Given the description of an element on the screen output the (x, y) to click on. 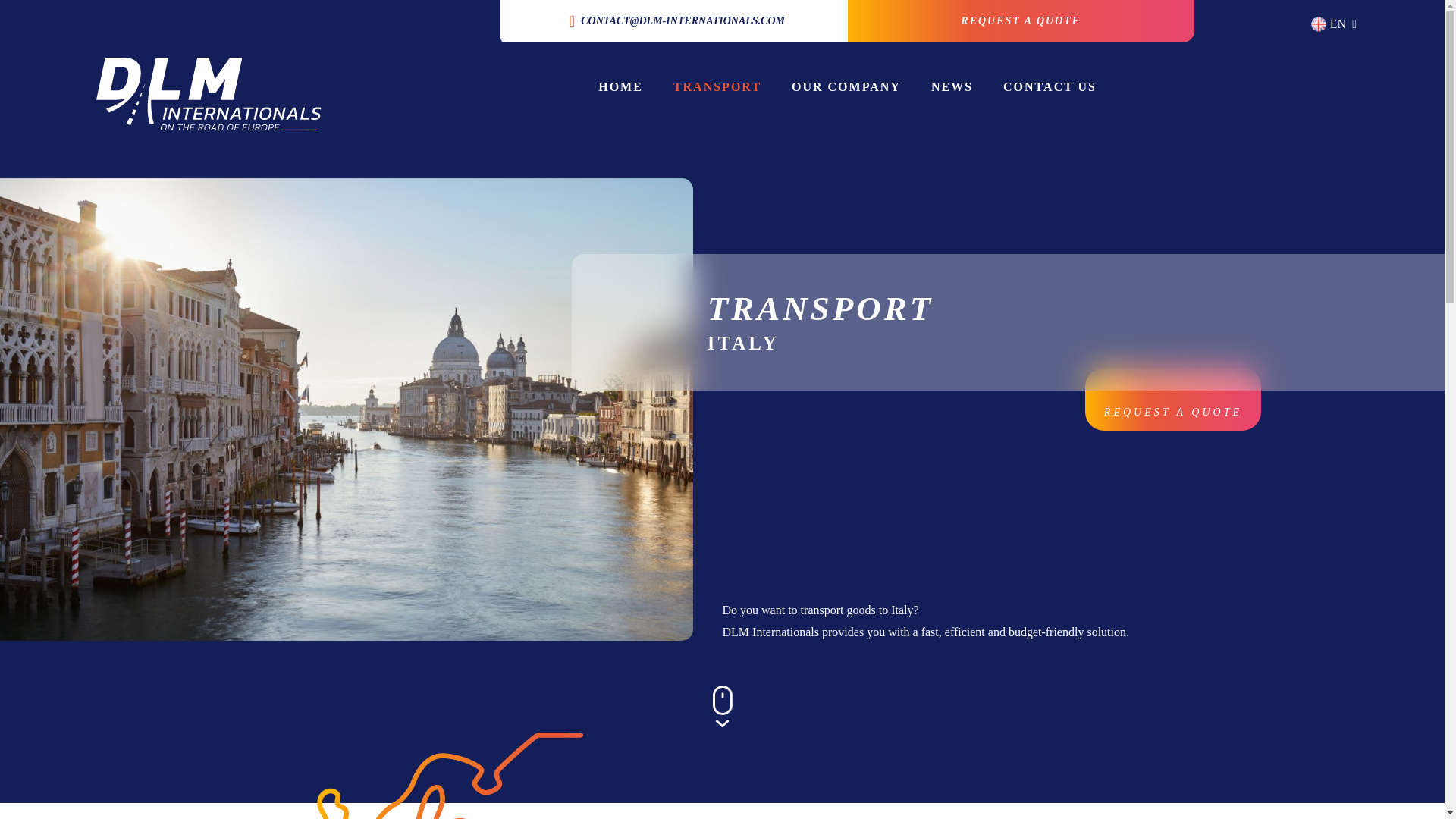
NEWS (951, 87)
OUR COMPANY (846, 87)
TRANSPORT (716, 87)
REQUEST A QUOTE (1020, 20)
Europe grand (424, 775)
REQUEST A QUOTE (1172, 398)
HOME (620, 87)
Scroll (722, 706)
EN (1333, 24)
CONTACT US (1049, 87)
